Given the description of an element on the screen output the (x, y) to click on. 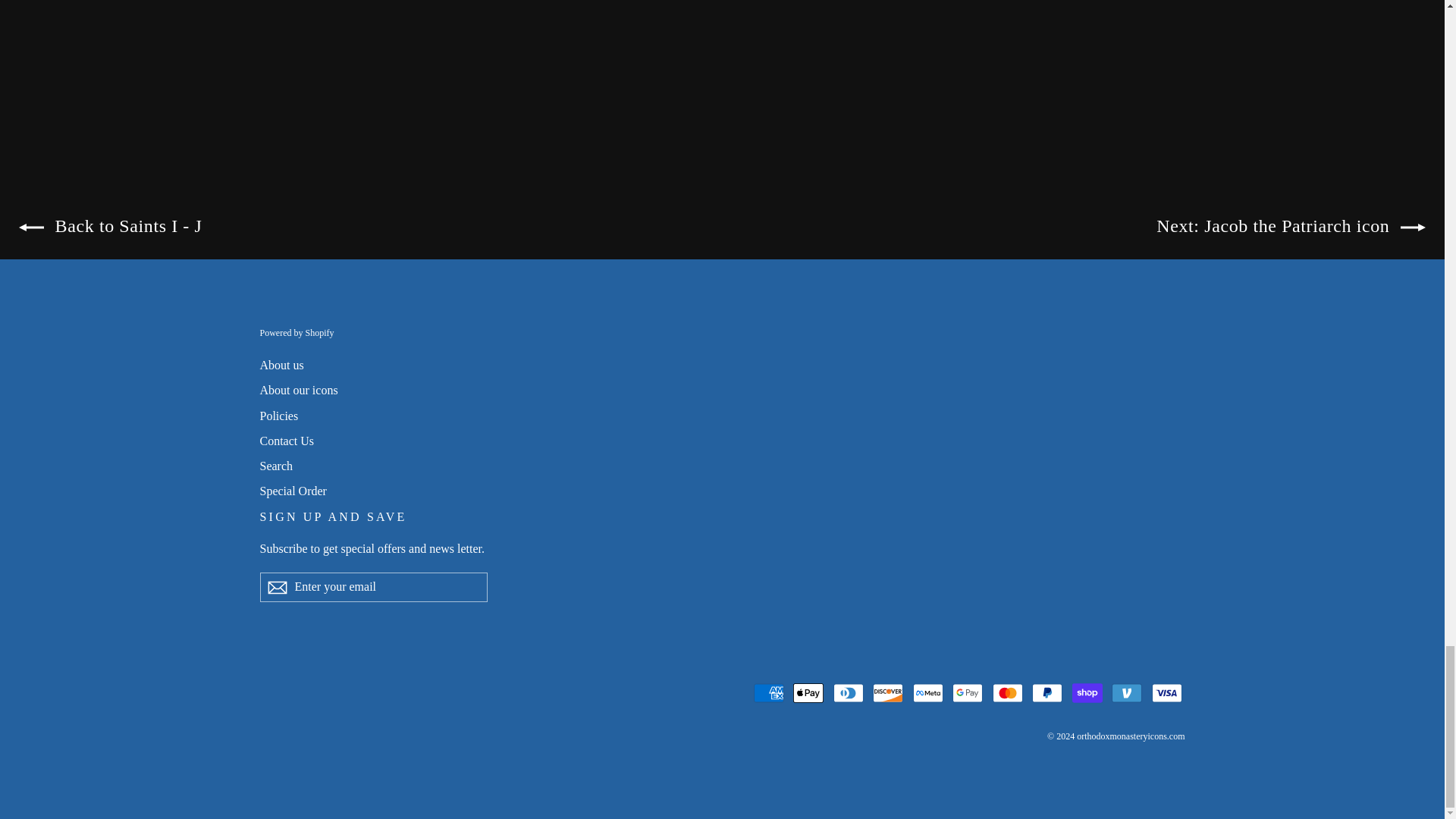
Apple Pay (808, 693)
American Express (769, 693)
